Given the description of an element on the screen output the (x, y) to click on. 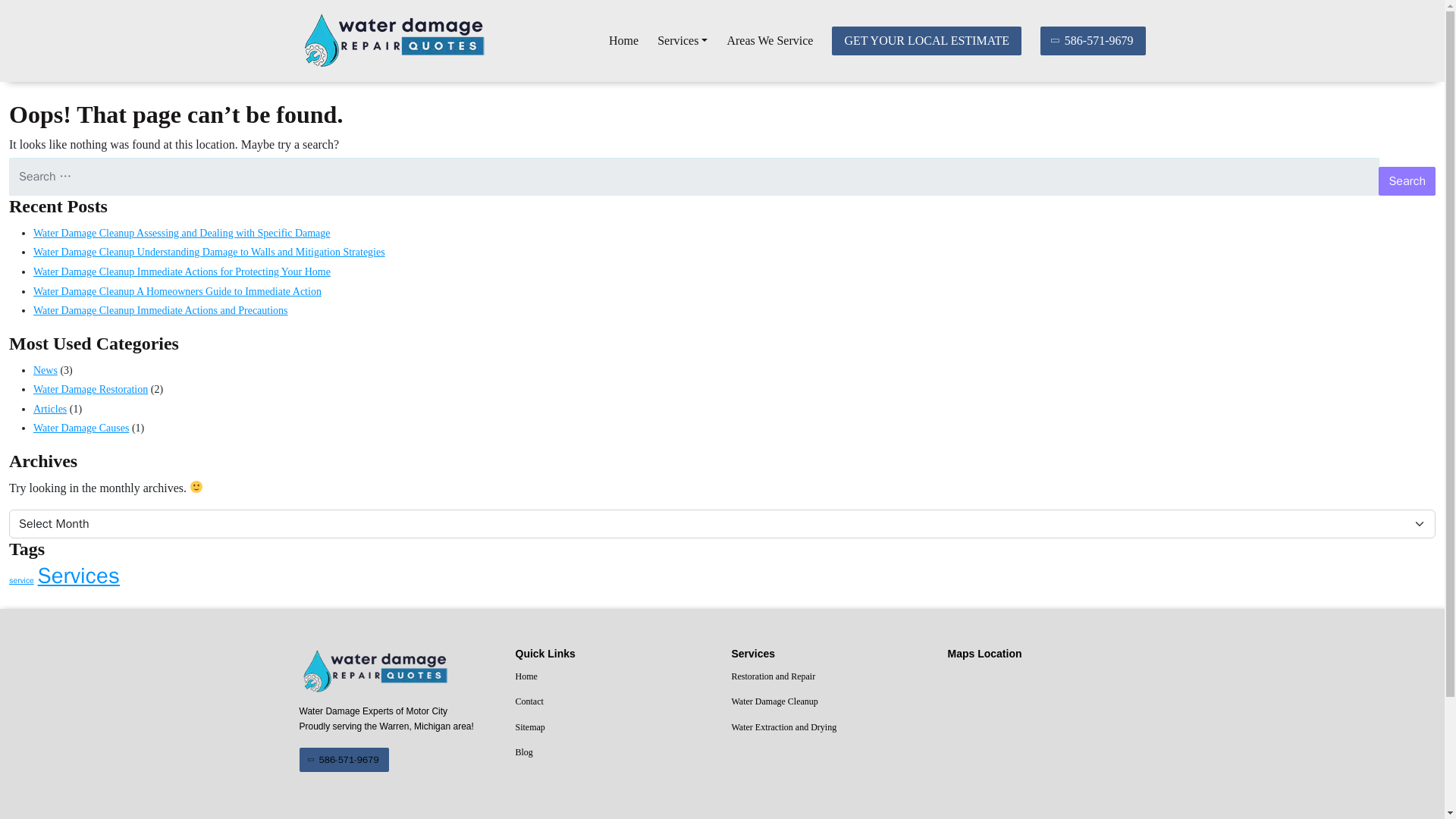
Sitemap (614, 727)
Blog (614, 752)
Water Damage Cleanup A Homeowners Guide to Immediate Action (177, 291)
Services (682, 40)
Search (1406, 181)
Water Damage Causes (81, 428)
Areas We Service (769, 40)
Home (623, 40)
586-571-9679 (1093, 40)
Home (614, 677)
Articles (49, 408)
Water Damage Cleanup (829, 701)
